Given the description of an element on the screen output the (x, y) to click on. 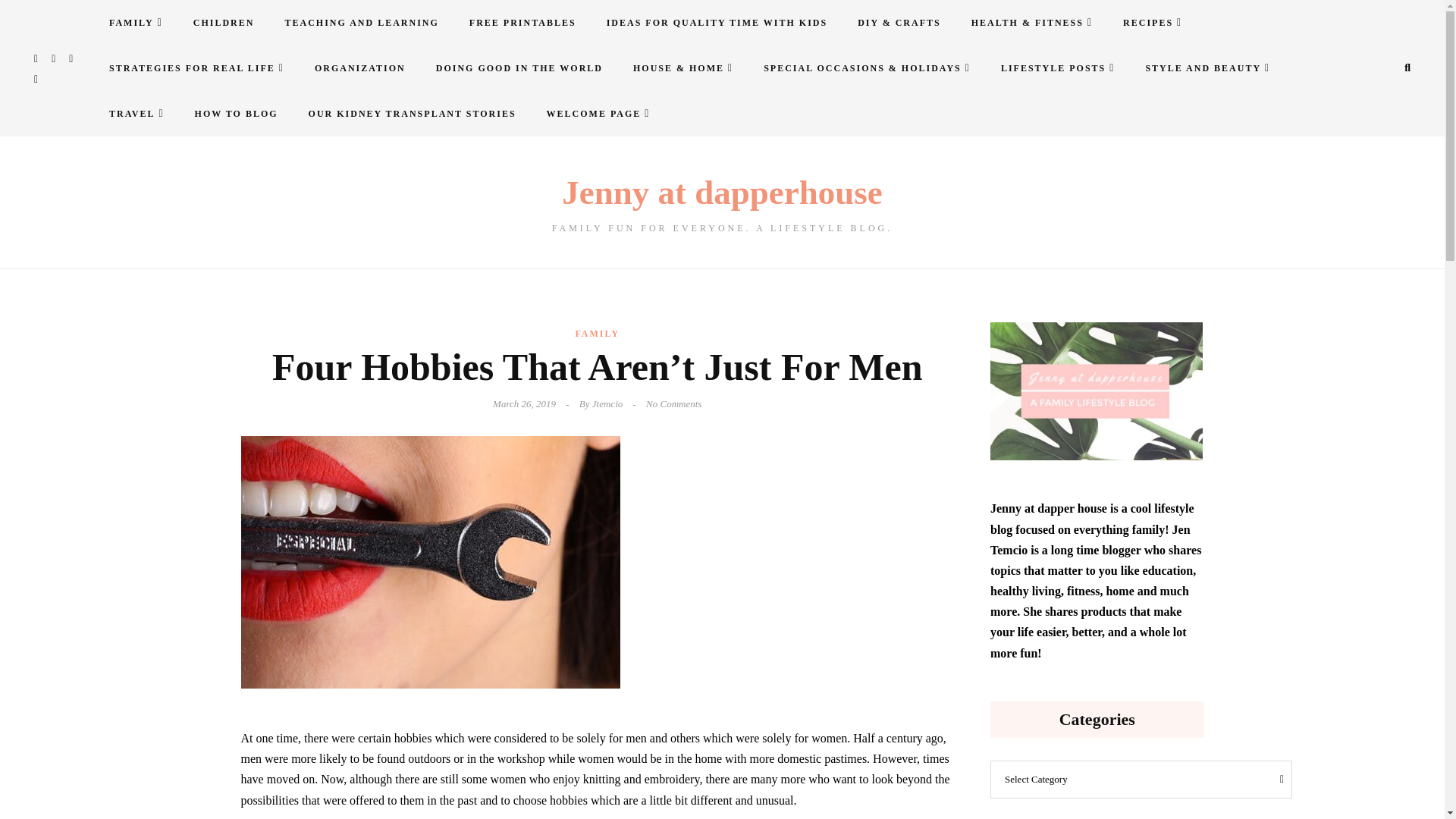
FREE PRINTABLES (522, 22)
ORGANIZATION (360, 67)
DOING GOOD IN THE WORLD (518, 67)
Spend Time with Your Kids (716, 22)
RECIPES (1152, 22)
FAMILY (136, 22)
IDEAS FOR QUALITY TIME WITH KIDS (716, 22)
STRATEGIES FOR REAL LIFE (197, 67)
CHILDREN (223, 22)
TEACHING AND LEARNING (360, 22)
